Given the description of an element on the screen output the (x, y) to click on. 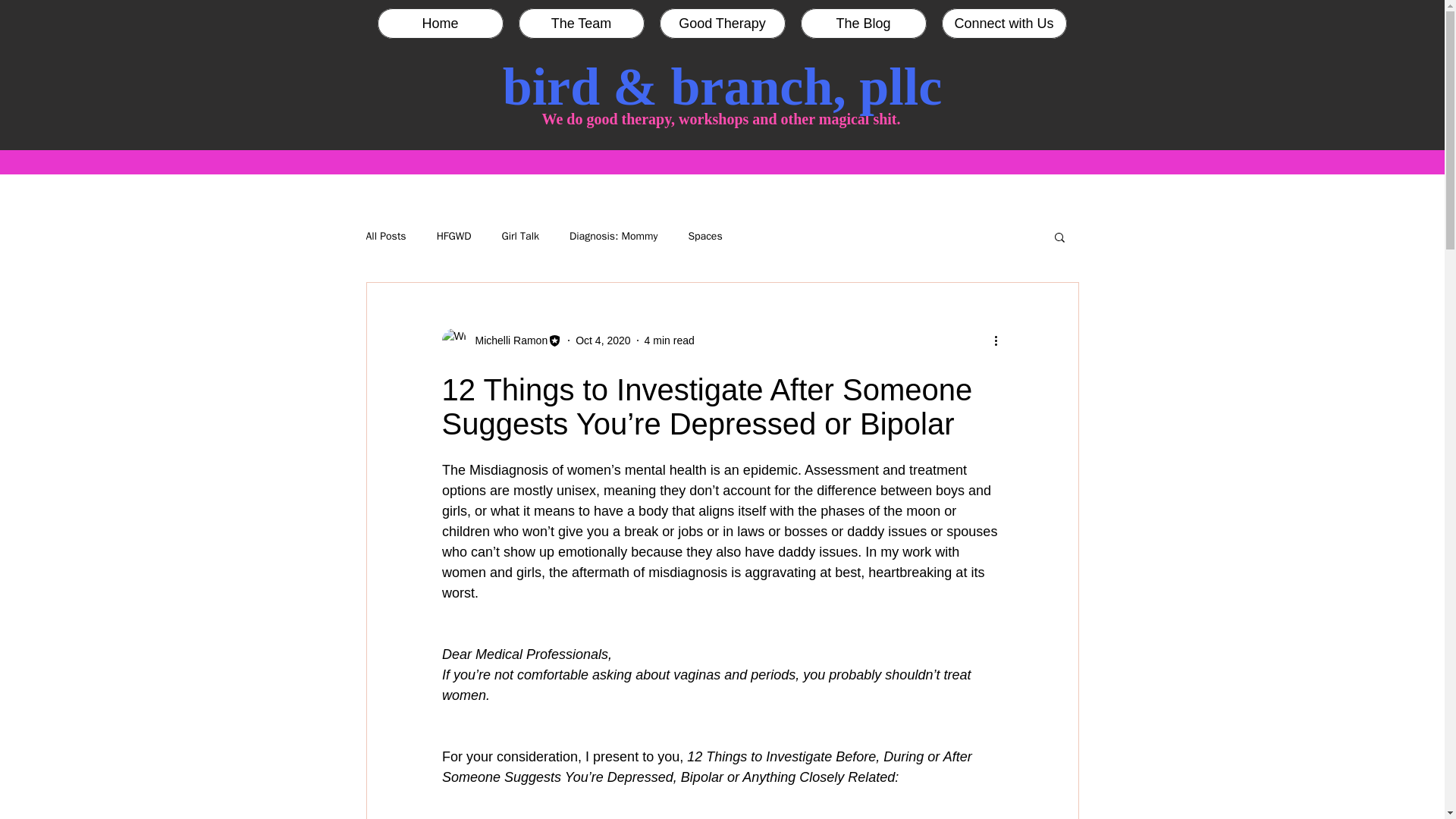
Oct 4, 2020 (602, 339)
Michelli Ramon (501, 340)
Michelli Ramon  (506, 340)
4 min read (669, 339)
The Team (581, 23)
Diagnosis: Mommy (613, 236)
All Posts (385, 236)
Connect with Us (1004, 23)
Home (440, 23)
The Blog (863, 23)
